Given the description of an element on the screen output the (x, y) to click on. 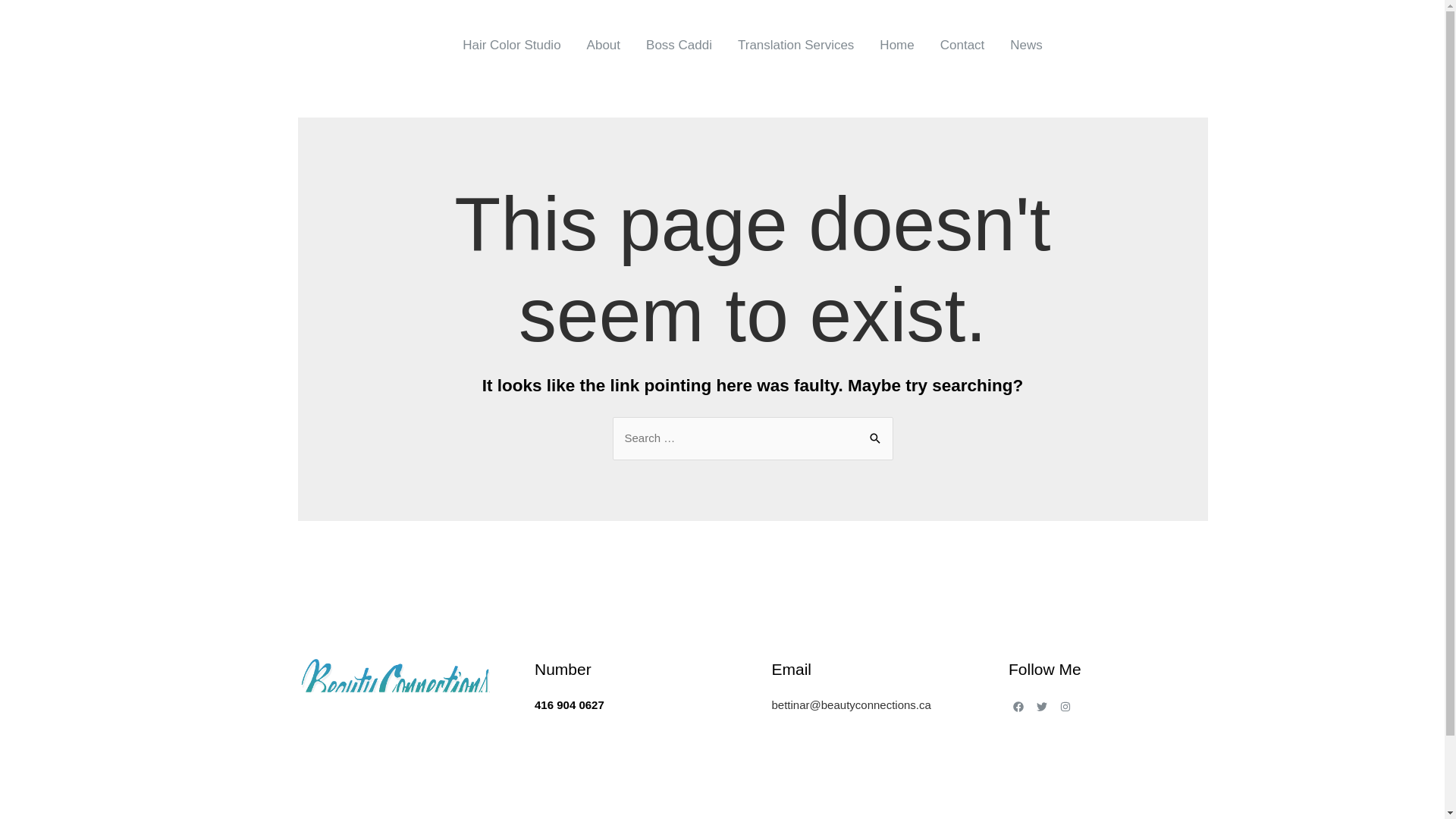
Translation Services Element type: text (795, 45)
Search Element type: text (875, 432)
About Element type: text (603, 45)
Home Element type: text (896, 45)
News Element type: text (1026, 45)
Contact Element type: text (962, 45)
Hair Color Studio Element type: text (511, 45)
Boss Caddi Element type: text (678, 45)
bettinar@beautyconnections.ca Element type: text (851, 704)
